Given the description of an element on the screen output the (x, y) to click on. 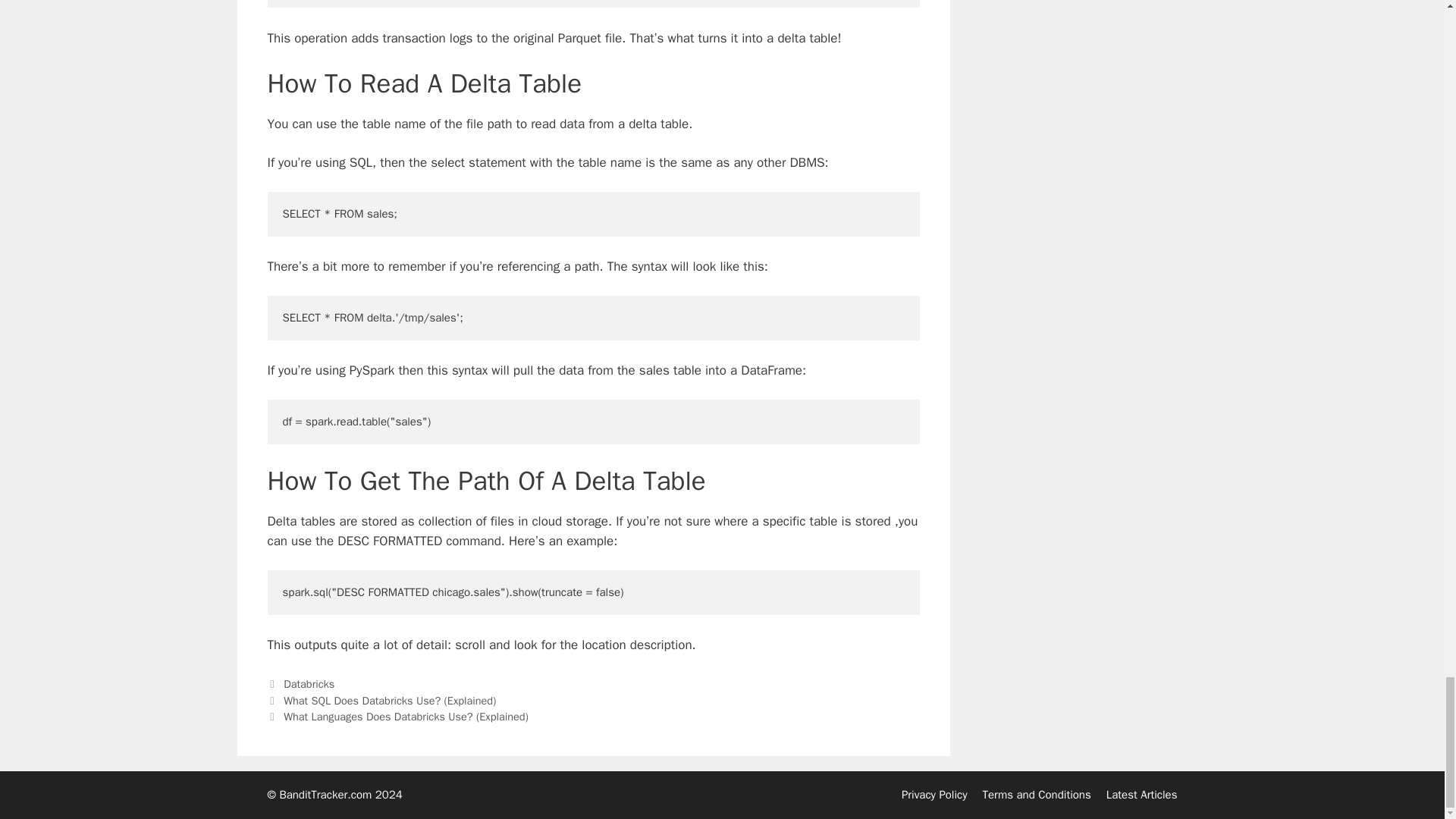
Databricks (308, 684)
Terms and Conditions (1036, 794)
Latest Articles (1141, 794)
Privacy Policy (934, 794)
